Given the description of an element on the screen output the (x, y) to click on. 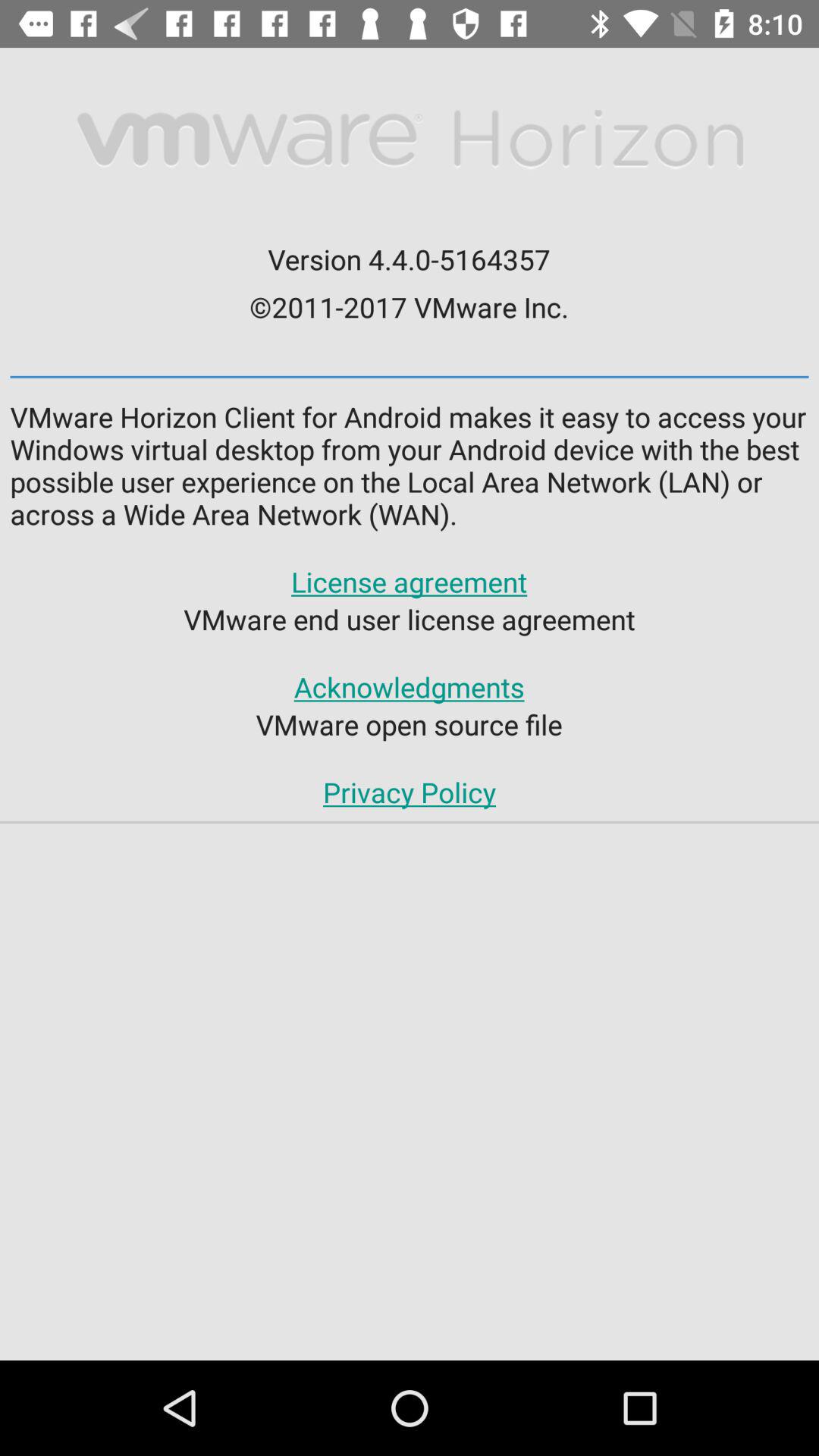
click the item below acknowledgments (408, 724)
